Given the description of an element on the screen output the (x, y) to click on. 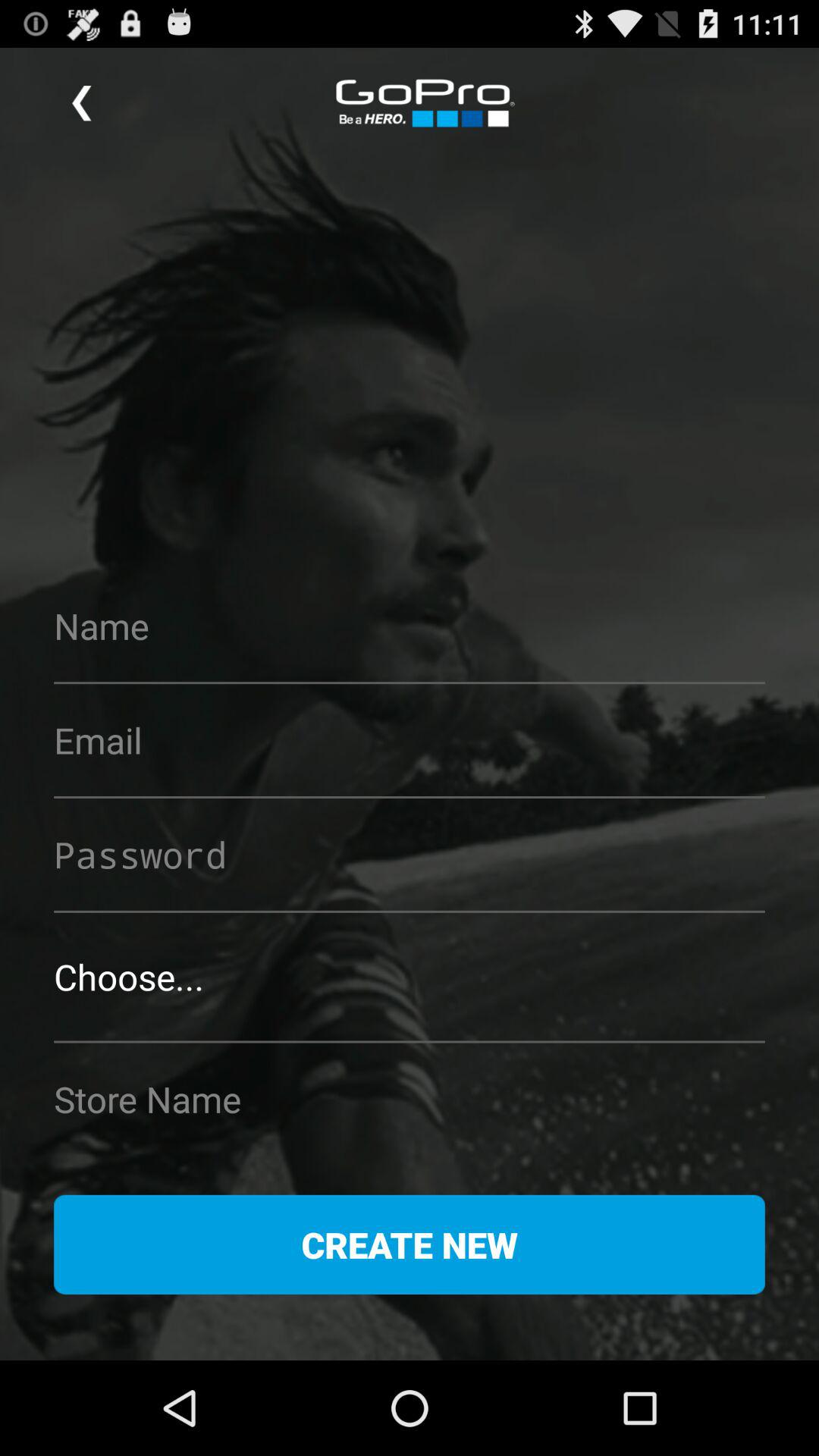
input the email (409, 740)
